Given the description of an element on the screen output the (x, y) to click on. 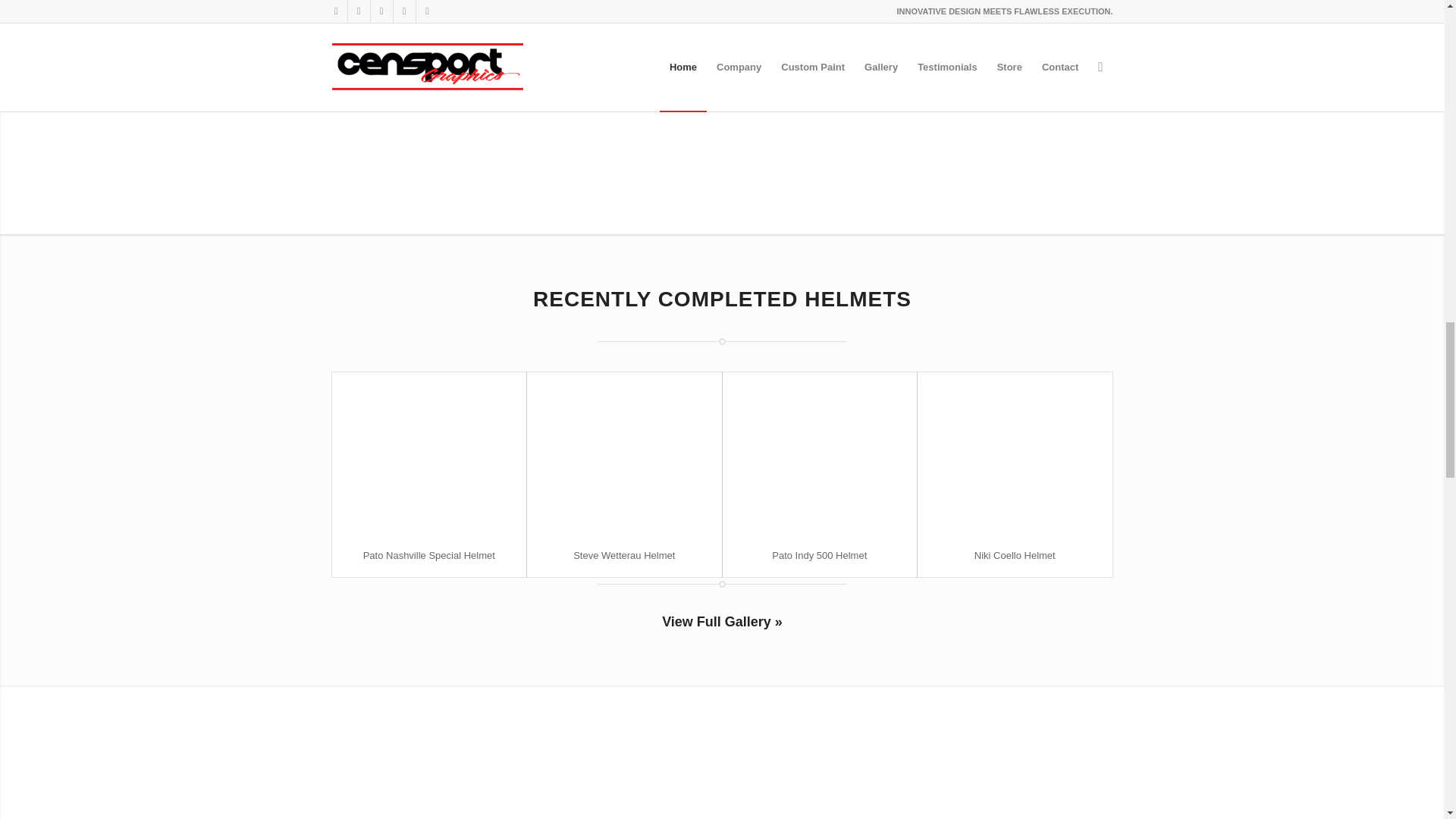
Niki Coello Helmet (1014, 555)
Pato Nashville Special Helmet (428, 555)
Gallery (722, 621)
Pato Indy 500 Helmet (818, 555)
Steve Wetterau Helmet (624, 555)
